Given the description of an element on the screen output the (x, y) to click on. 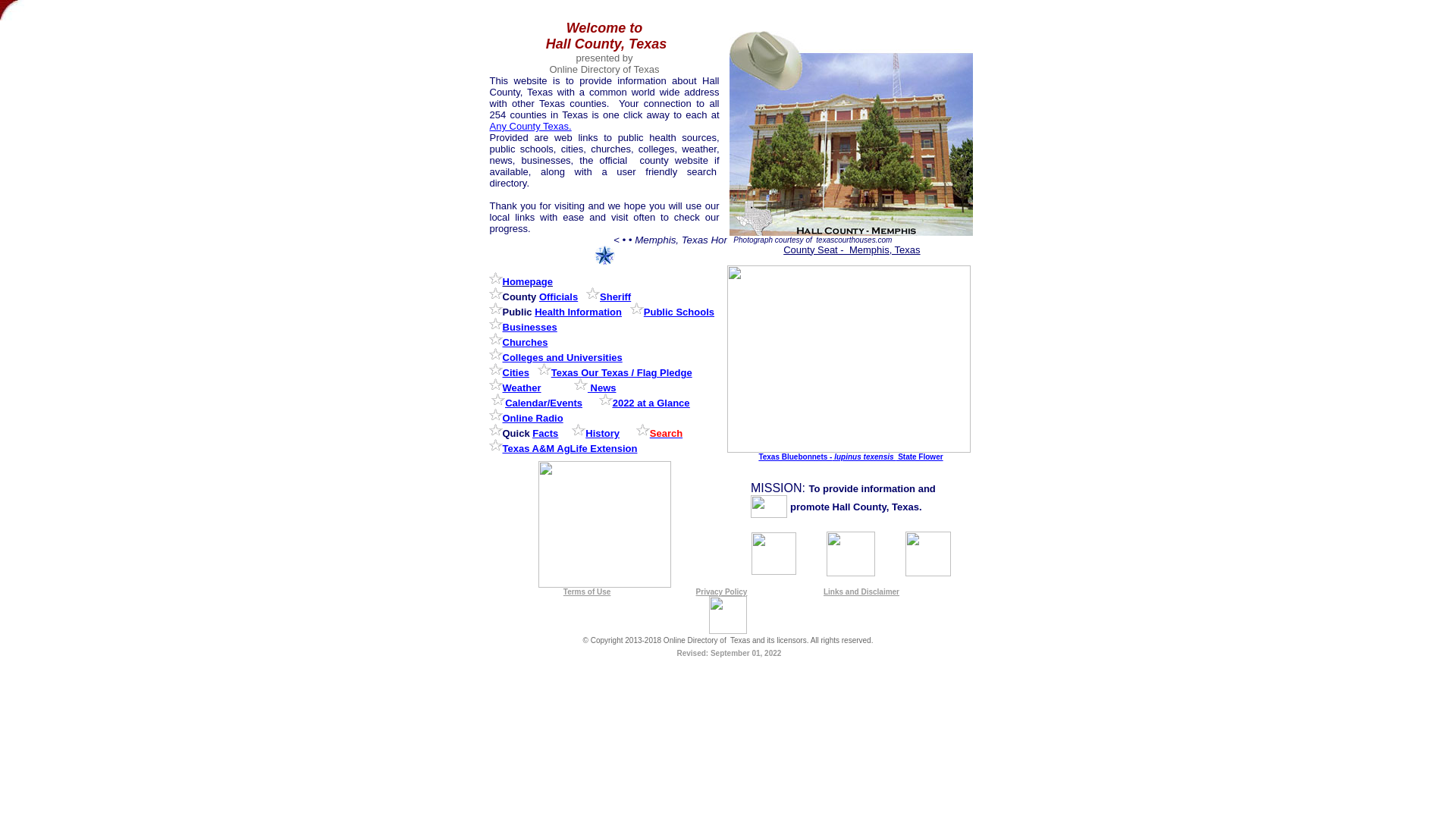
Businesses (529, 326)
Weather (521, 387)
Your Online Texas Connection! (727, 629)
Terms of Use (587, 592)
Cities (515, 372)
Links and Disclaimer (861, 592)
Privacy Policy (721, 592)
County Seat -  Memphis, Texas (851, 248)
Online Radio (532, 418)
Sheriff (614, 296)
